Given the description of an element on the screen output the (x, y) to click on. 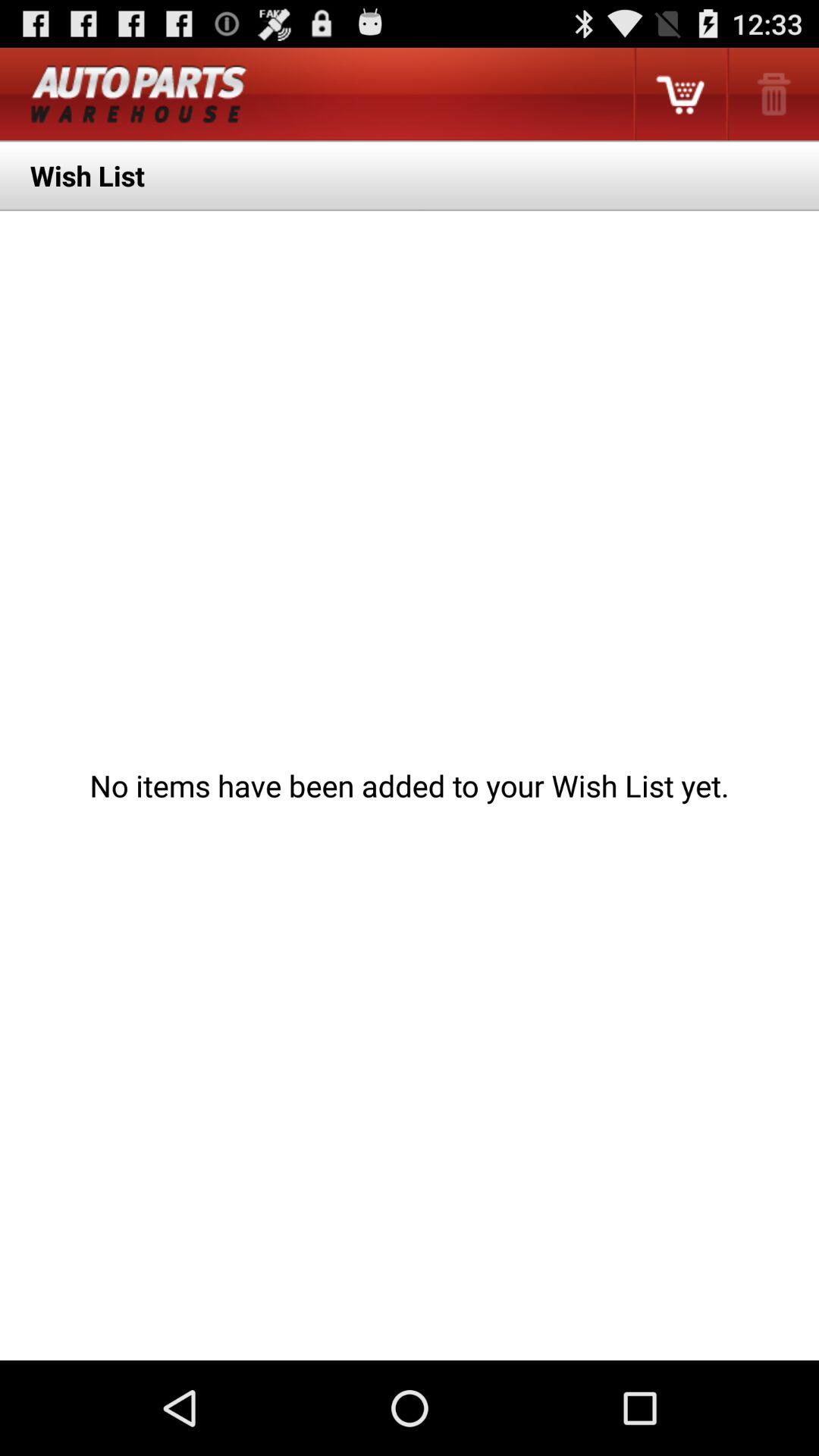
choose icon at the top left corner (138, 93)
